Given the description of an element on the screen output the (x, y) to click on. 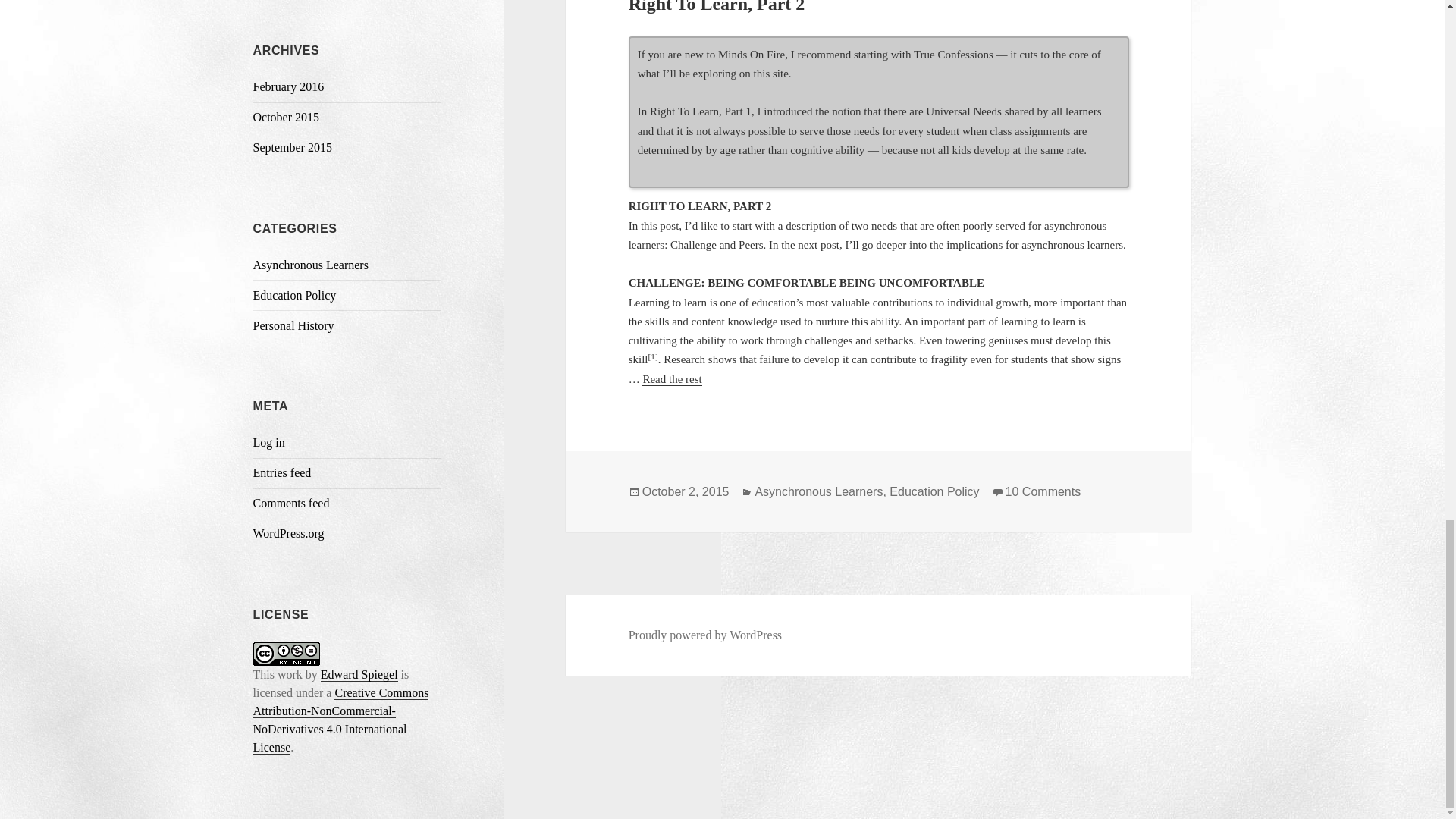
Education Policy (294, 295)
October 2015 (286, 116)
Log in (269, 441)
Entries feed (282, 472)
February 2016 (288, 86)
September 2015 (292, 146)
WordPress.org (288, 533)
Edward Spiegel (358, 674)
Comments feed (291, 502)
Personal History (293, 325)
